Given the description of an element on the screen output the (x, y) to click on. 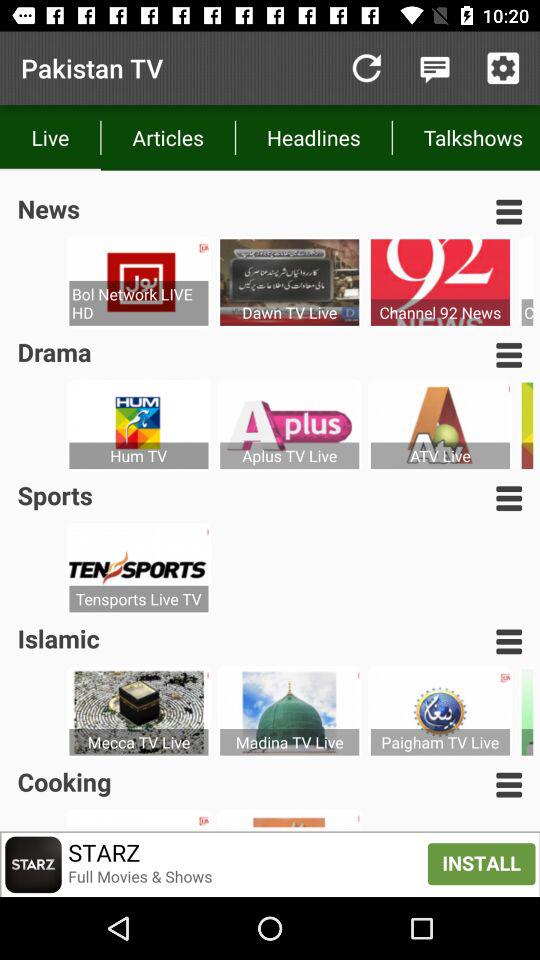
turn off articles item (167, 137)
